Given the description of an element on the screen output the (x, y) to click on. 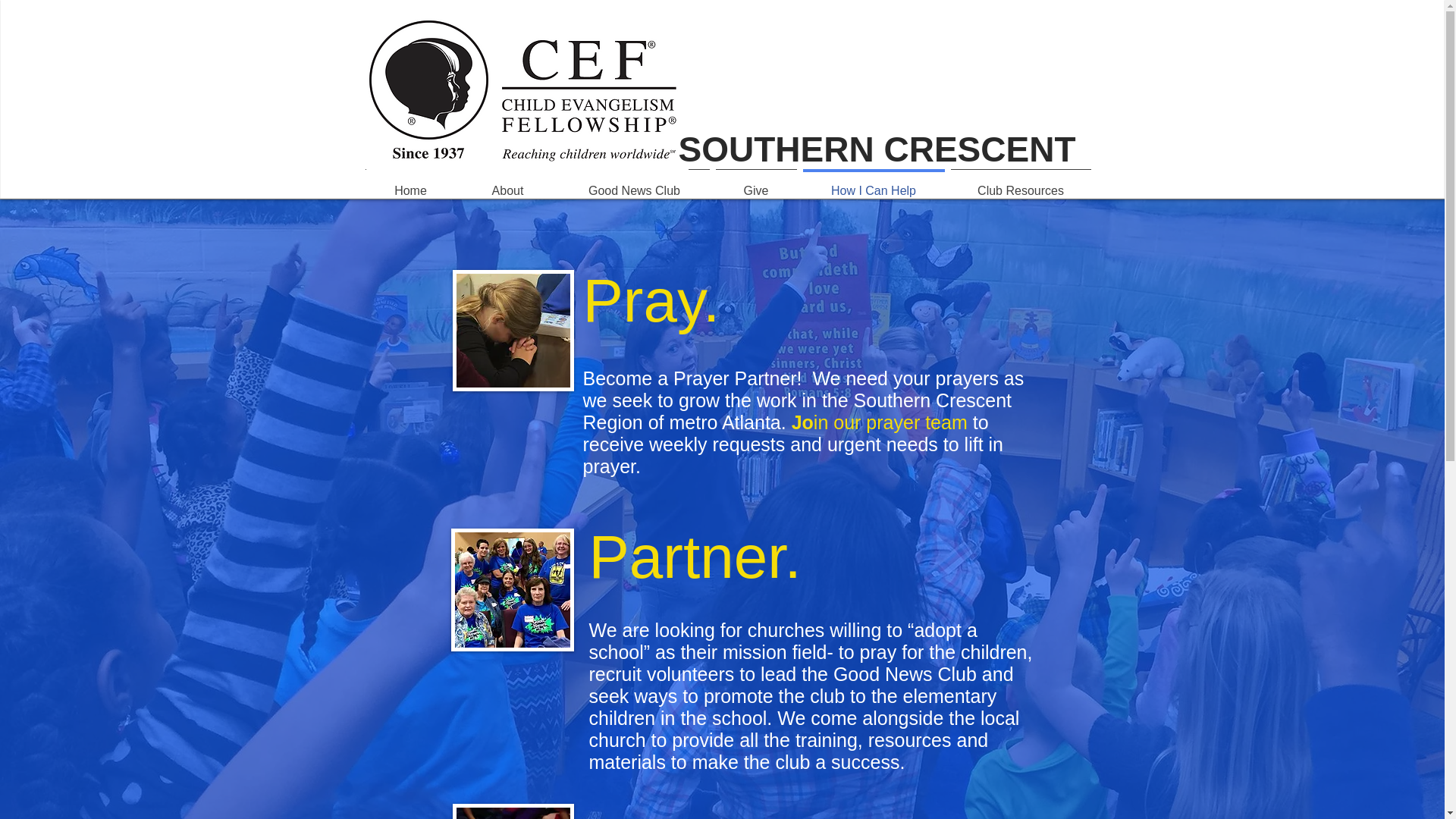
How I Can Help (873, 183)
About (508, 183)
Home (411, 183)
Give (756, 183)
Good News Club (634, 183)
Club Resources (1020, 183)
